Given the description of an element on the screen output the (x, y) to click on. 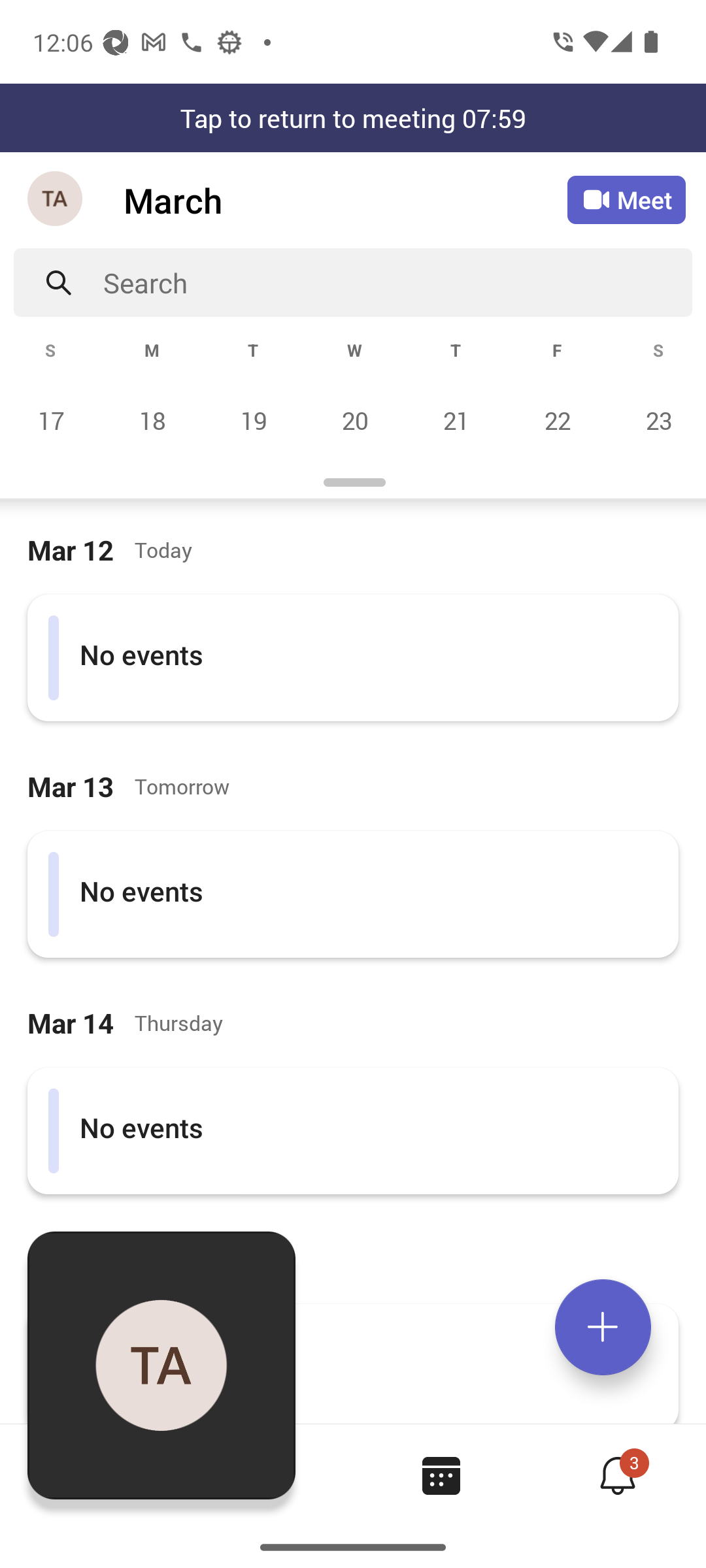
Tap to return to meeting 07:59 (353, 117)
Navigation (56, 199)
Meet Meet now or join with an ID (626, 199)
March March Calendar Agenda View (345, 199)
Search (397, 281)
Sunday, March 17 17 (50, 420)
Monday, March 18 18 (151, 420)
Tuesday, March 19 19 (253, 420)
Wednesday, March 20 20 (354, 420)
Thursday, March 21 21 (455, 420)
Friday, March 22 22 (556, 420)
Saturday, March 23 23 (656, 420)
Expand meetings menu (602, 1327)
Calendar tab, 3 of 4 (441, 1475)
Activity tab,4 of 4, not selected, 3 new 3 (617, 1475)
